Given the description of an element on the screen output the (x, y) to click on. 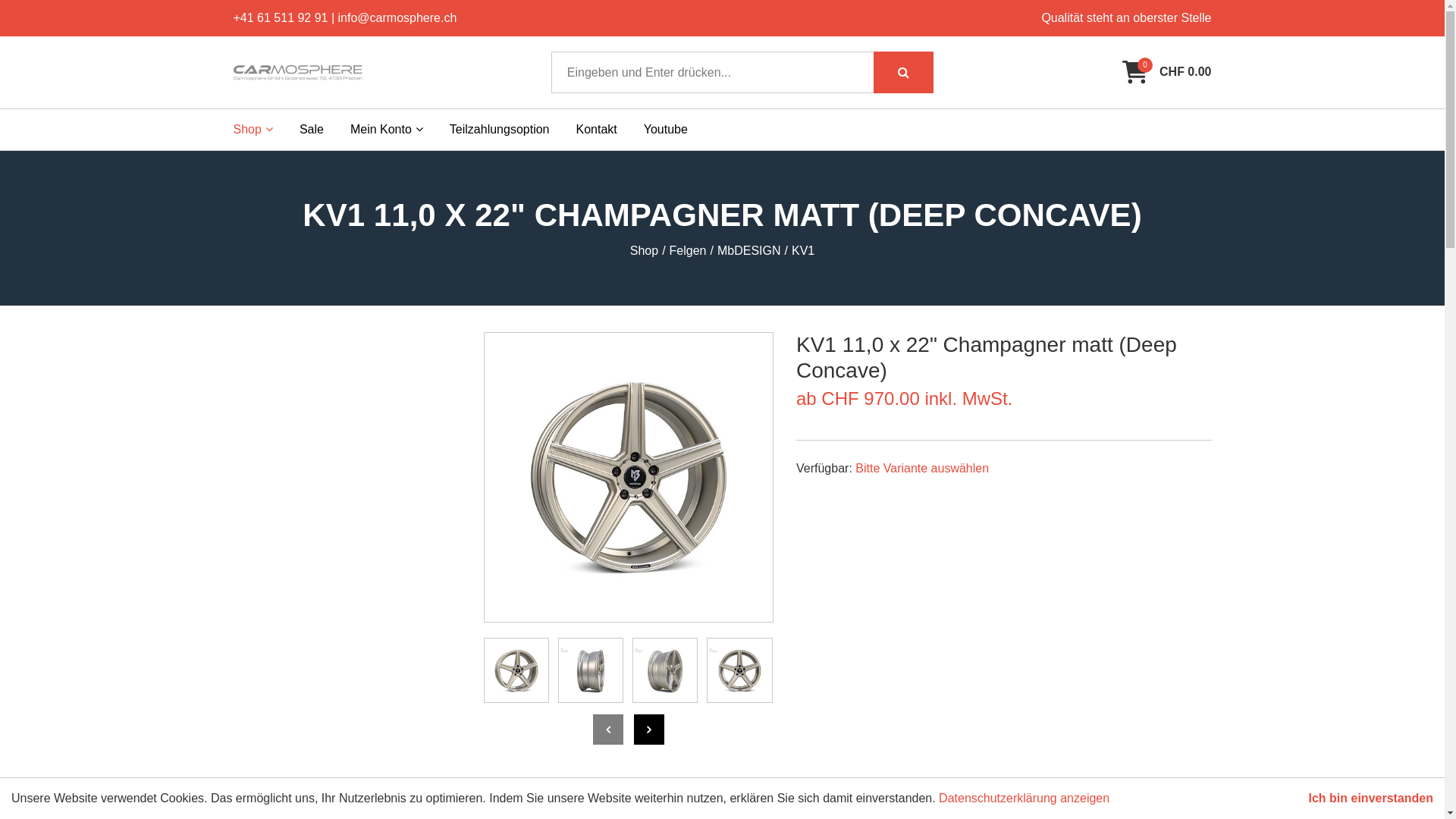
Warenkorb Element type: hover (1135, 71)
Shop Element type: text (644, 250)
Mein Konto Element type: text (386, 129)
Shop Element type: text (253, 129)
KV1 Element type: text (802, 250)
Kontakt Element type: text (596, 129)
Ich bin einverstanden Element type: text (1370, 798)
MbDESIGN Element type: text (749, 250)
Youtube Element type: text (665, 129)
Sale Element type: text (311, 129)
Teilzahlungsoption Element type: text (499, 129)
Felgen Element type: text (687, 250)
0
CHF 0.00 Element type: text (1166, 71)
